Given the description of an element on the screen output the (x, y) to click on. 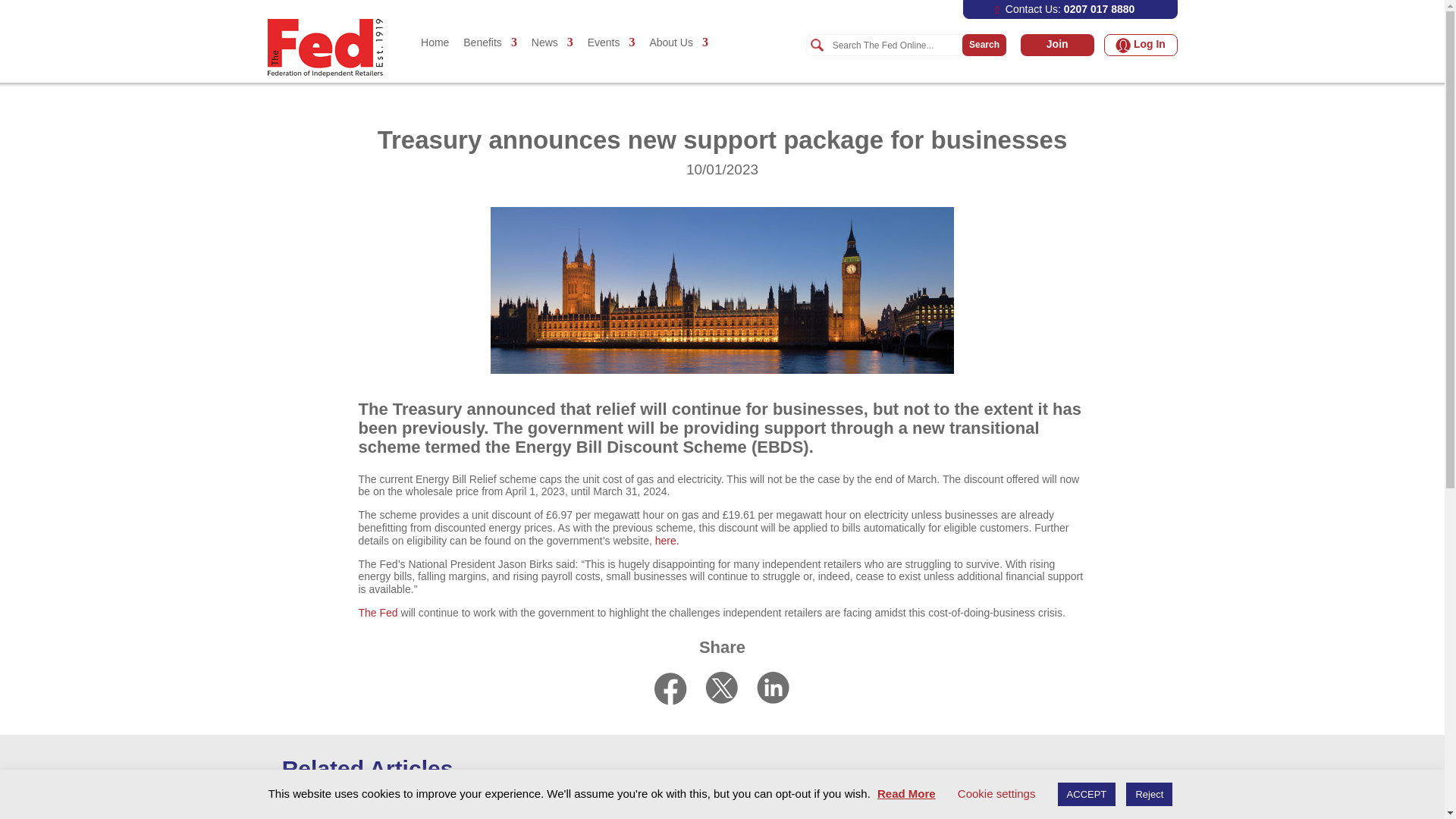
Benefits (489, 57)
Search (894, 45)
0207 017 8880 (1099, 9)
